Given the description of an element on the screen output the (x, y) to click on. 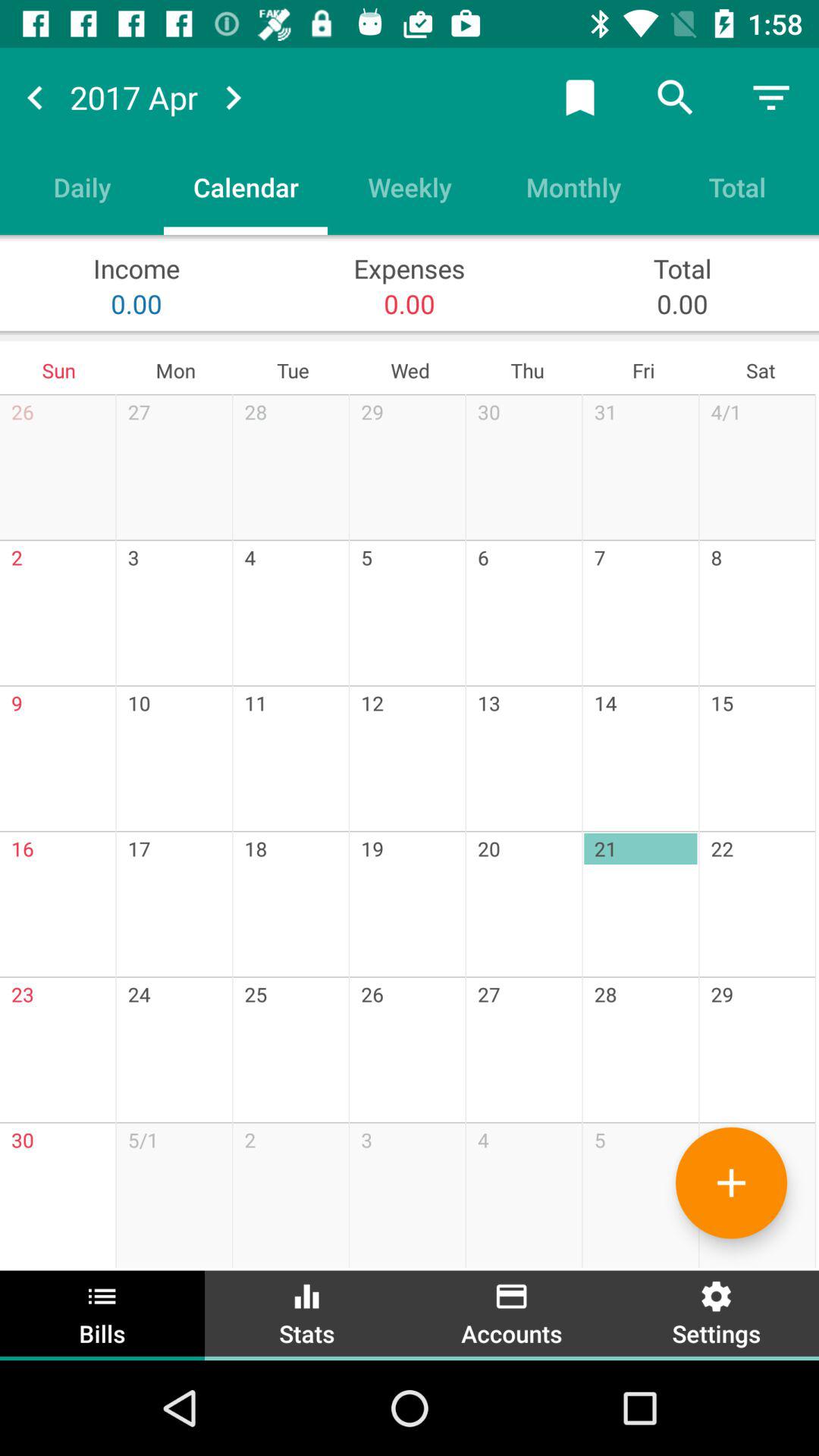
press the item next to the weekly icon (573, 186)
